Given the description of an element on the screen output the (x, y) to click on. 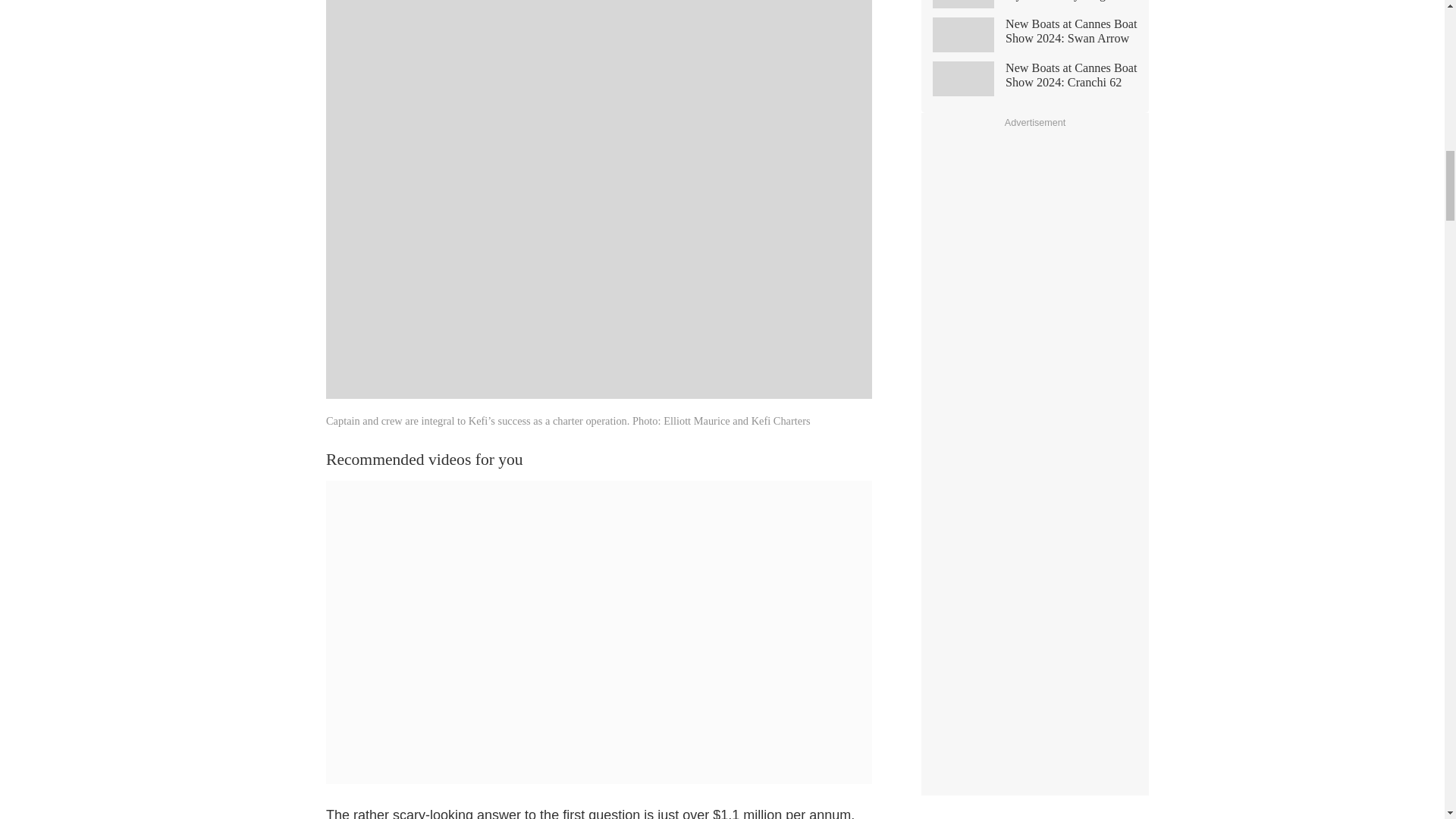
New Boats at Cannes Boat Show 2024: Swan Arrow (1035, 37)
Prestige F5.7 first look: Stylish new flybridge (1035, 6)
New Boats at Cannes Boat Show 2024: Cranchi 62 (1035, 81)
